Given the description of an element on the screen output the (x, y) to click on. 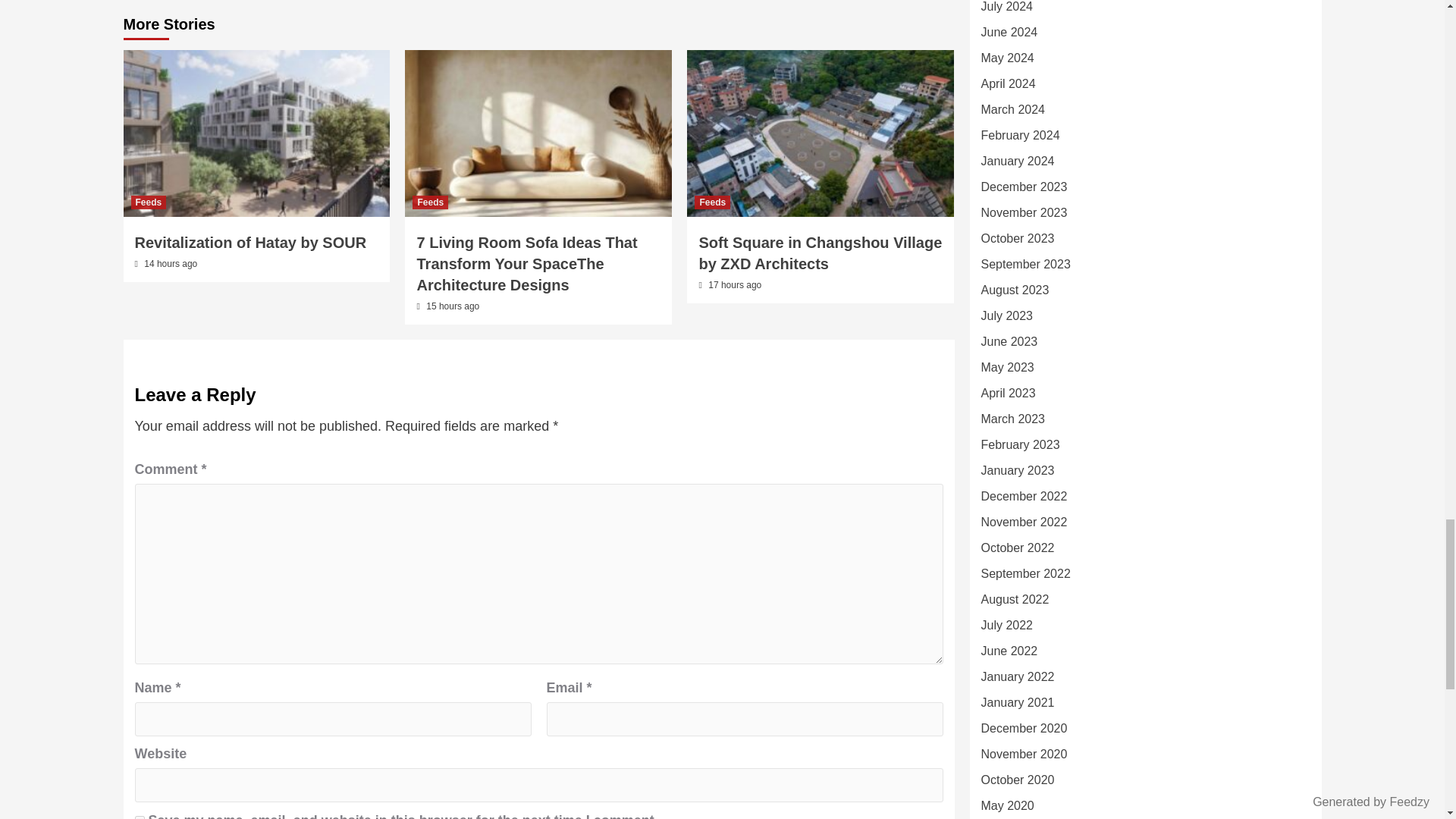
Feeds (430, 202)
Feeds (148, 202)
15 hours ago (452, 306)
17 hours ago (734, 285)
14 hours ago (170, 263)
Feeds (712, 202)
Revitalization of Hatay by SOUR (250, 242)
Soft Square in Changshou Village by ZXD Architects (820, 252)
